Given the description of an element on the screen output the (x, y) to click on. 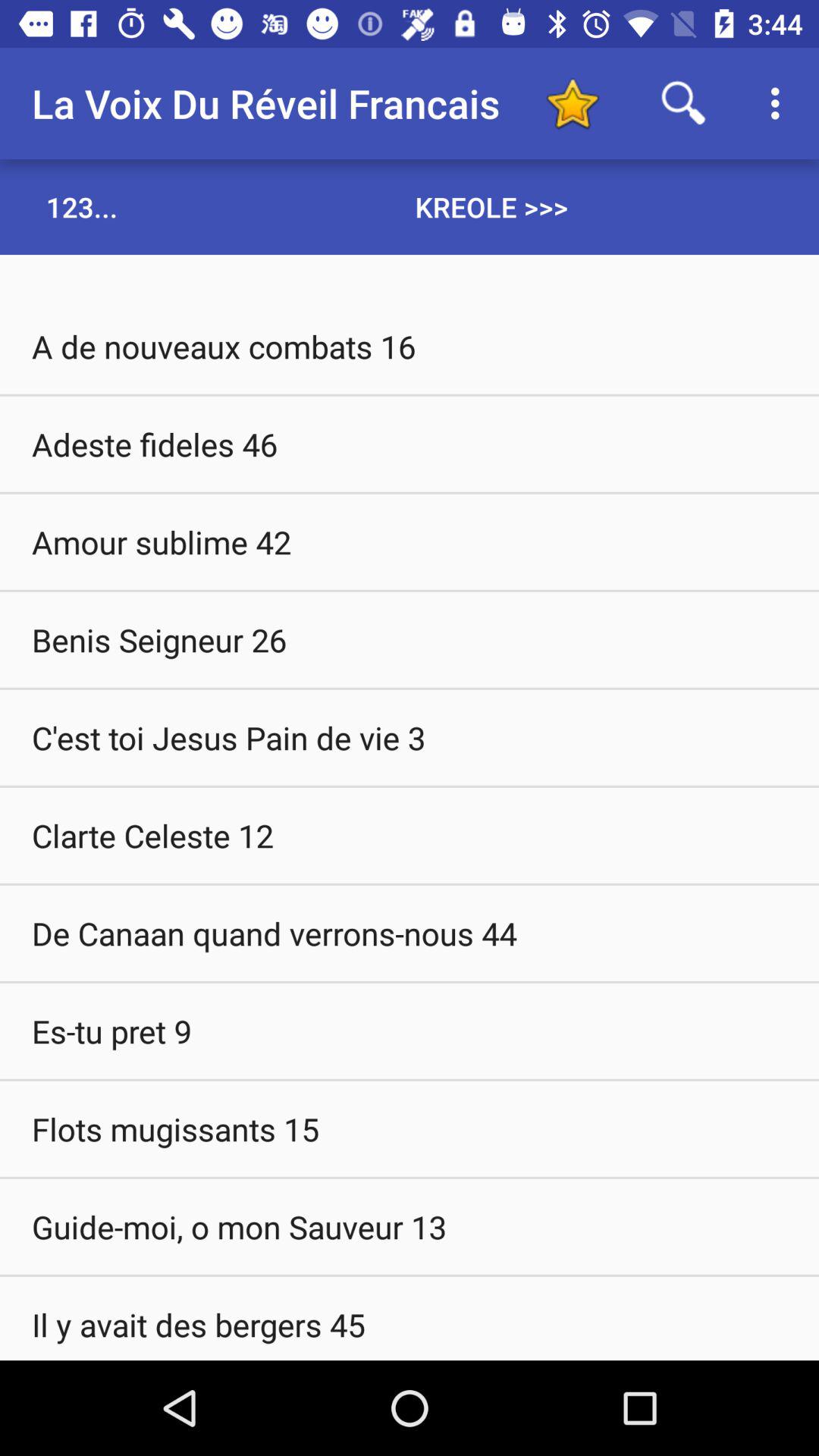
click the flots mugissants 15 (409, 1128)
